Given the description of an element on the screen output the (x, y) to click on. 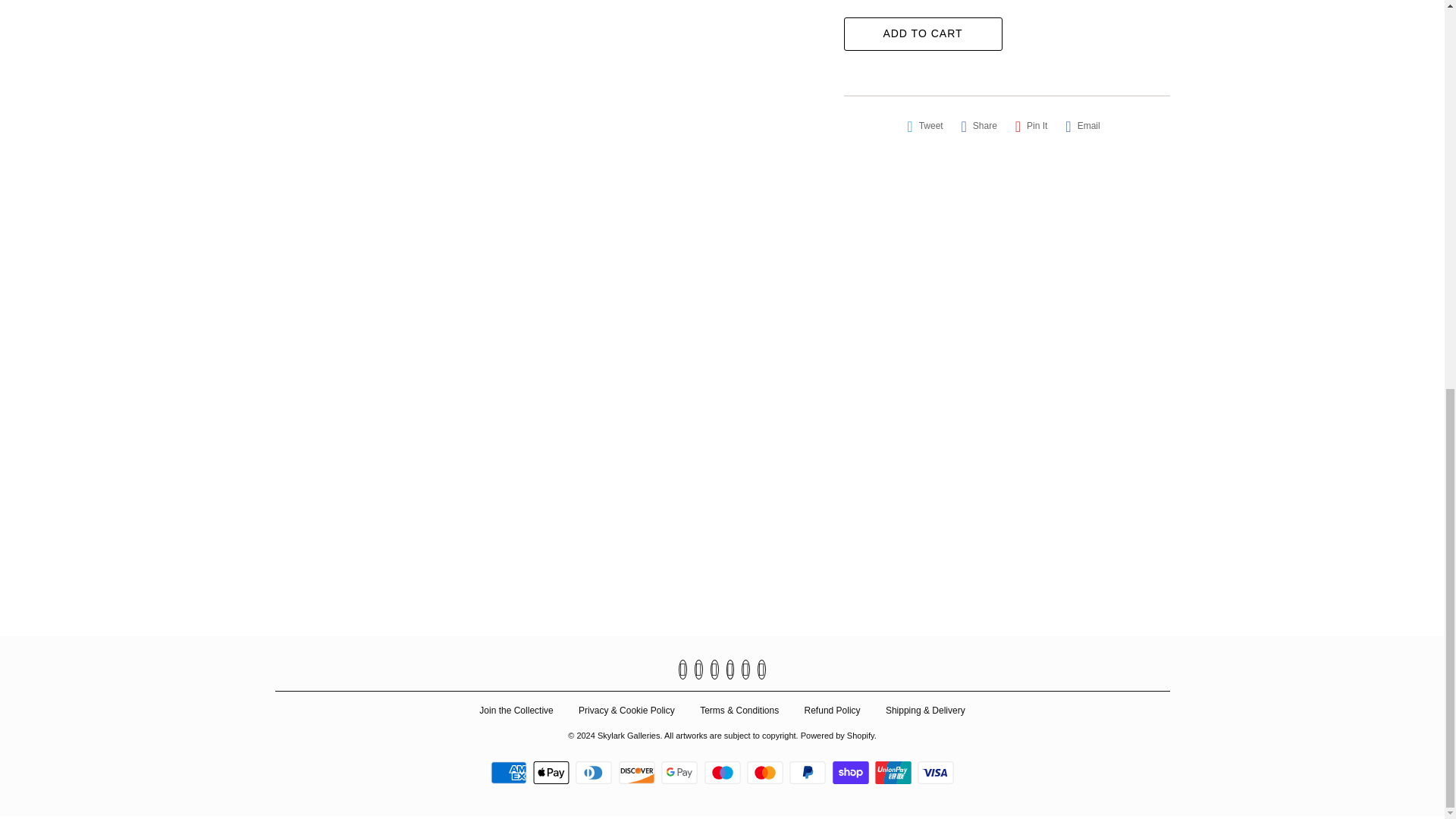
Skylark Galleries on YouTube (714, 669)
Mastercard (766, 772)
Share this on Pinterest (1031, 125)
Shop Pay (852, 772)
Share this on Facebook (978, 125)
Skylark Galleries on Facebook (698, 669)
Visa (935, 772)
Share this on Twitter (924, 125)
Diners Club (595, 772)
American Express (510, 772)
Skylark Galleries on Twitter (682, 669)
PayPal (809, 772)
Discover (638, 772)
Email this to a friend (1082, 125)
Skylark Galleries on Pinterest (730, 669)
